Given the description of an element on the screen output the (x, y) to click on. 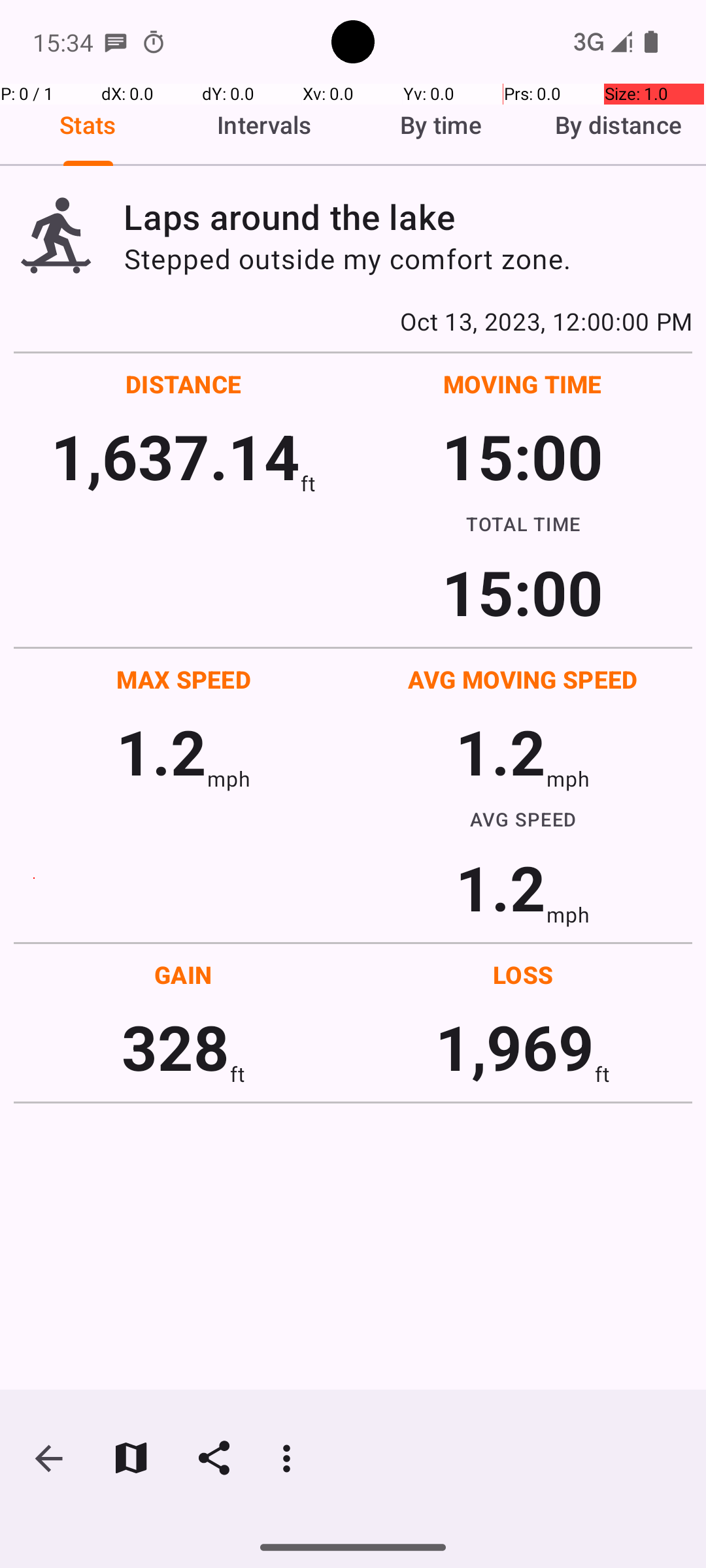
Laps around the lake Element type: android.widget.TextView (407, 216)
Stepped outside my comfort zone. Element type: android.widget.TextView (407, 258)
Oct 13, 2023, 12:00:00 PM Element type: android.widget.TextView (352, 320)
1,637.14 Element type: android.widget.TextView (175, 455)
1.2 Element type: android.widget.TextView (161, 750)
328 Element type: android.widget.TextView (175, 1045)
1,969 Element type: android.widget.TextView (514, 1045)
